Given the description of an element on the screen output the (x, y) to click on. 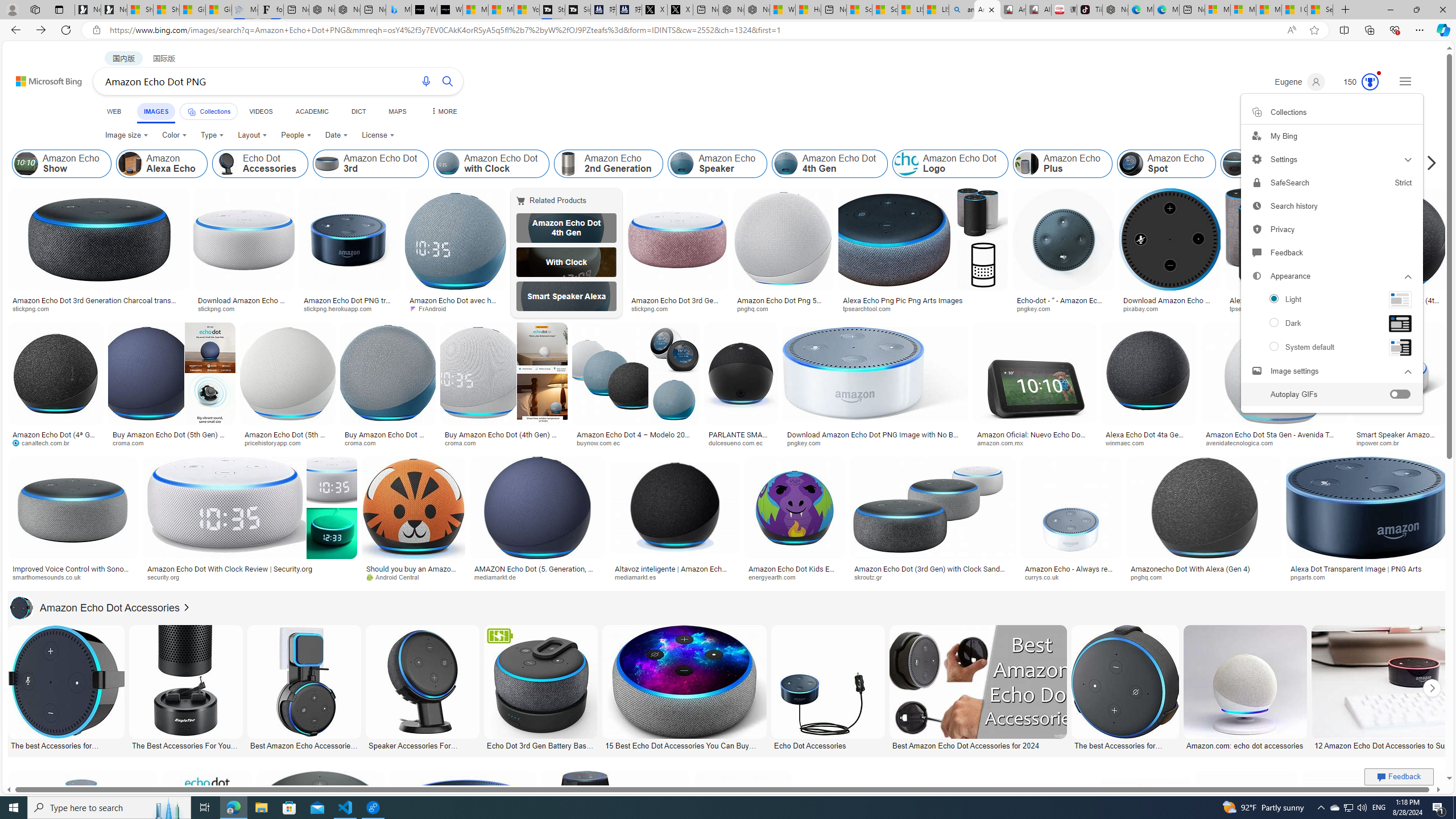
Nordace - Best Sellers (1114, 9)
Class: outer-circle-animation (1369, 81)
Newsletter Sign Up (114, 9)
ACADEMIC (311, 111)
To get missing image descriptions, open the context menu. (1400, 299)
Image size (126, 135)
Search history (1331, 205)
